Given the description of an element on the screen output the (x, y) to click on. 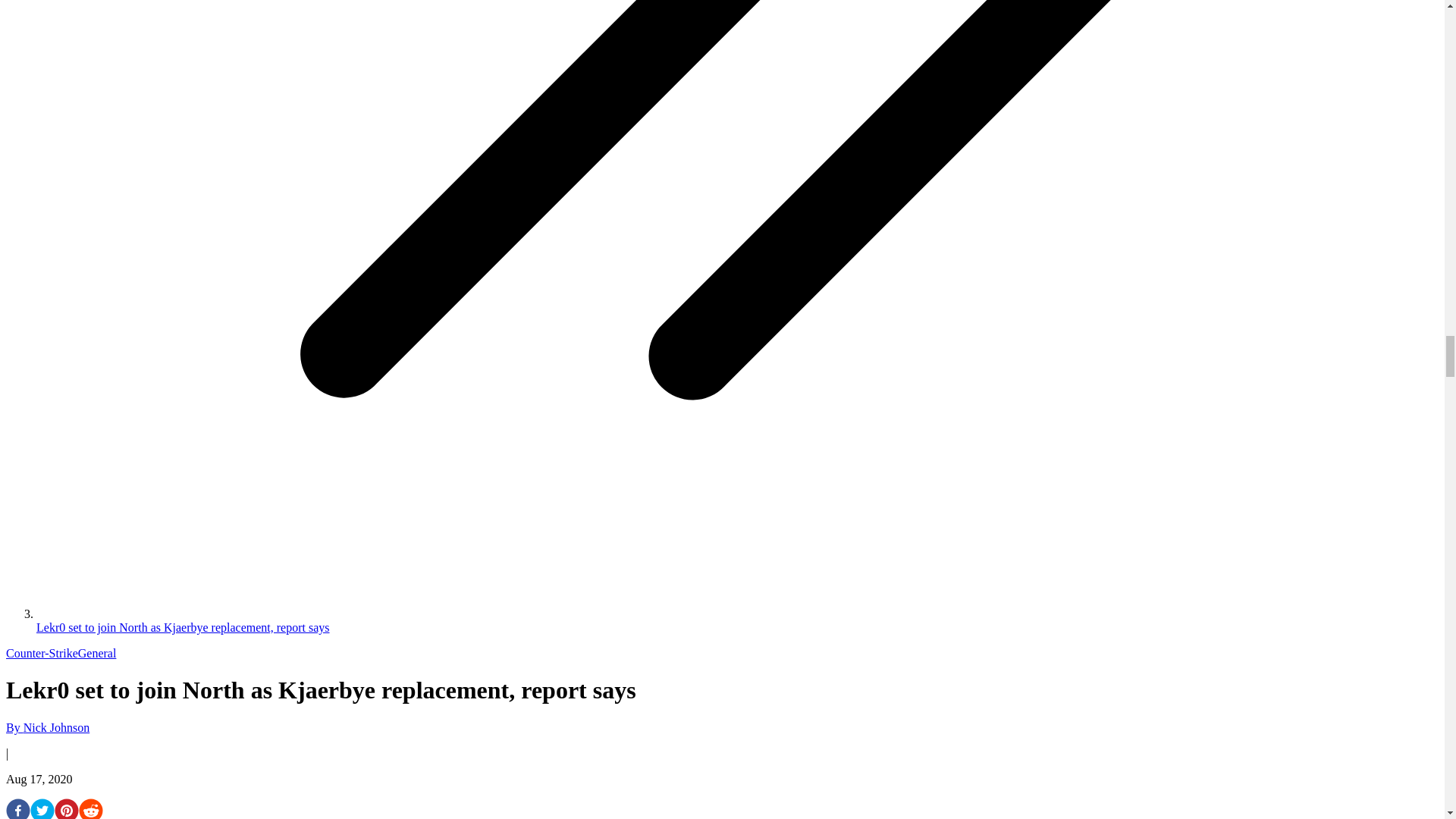
Counter-Strike (41, 653)
Lekr0 set to join North as Kjaerbye replacement, report says (183, 626)
General (97, 653)
By Nick Johnson (46, 727)
